Given the description of an element on the screen output the (x, y) to click on. 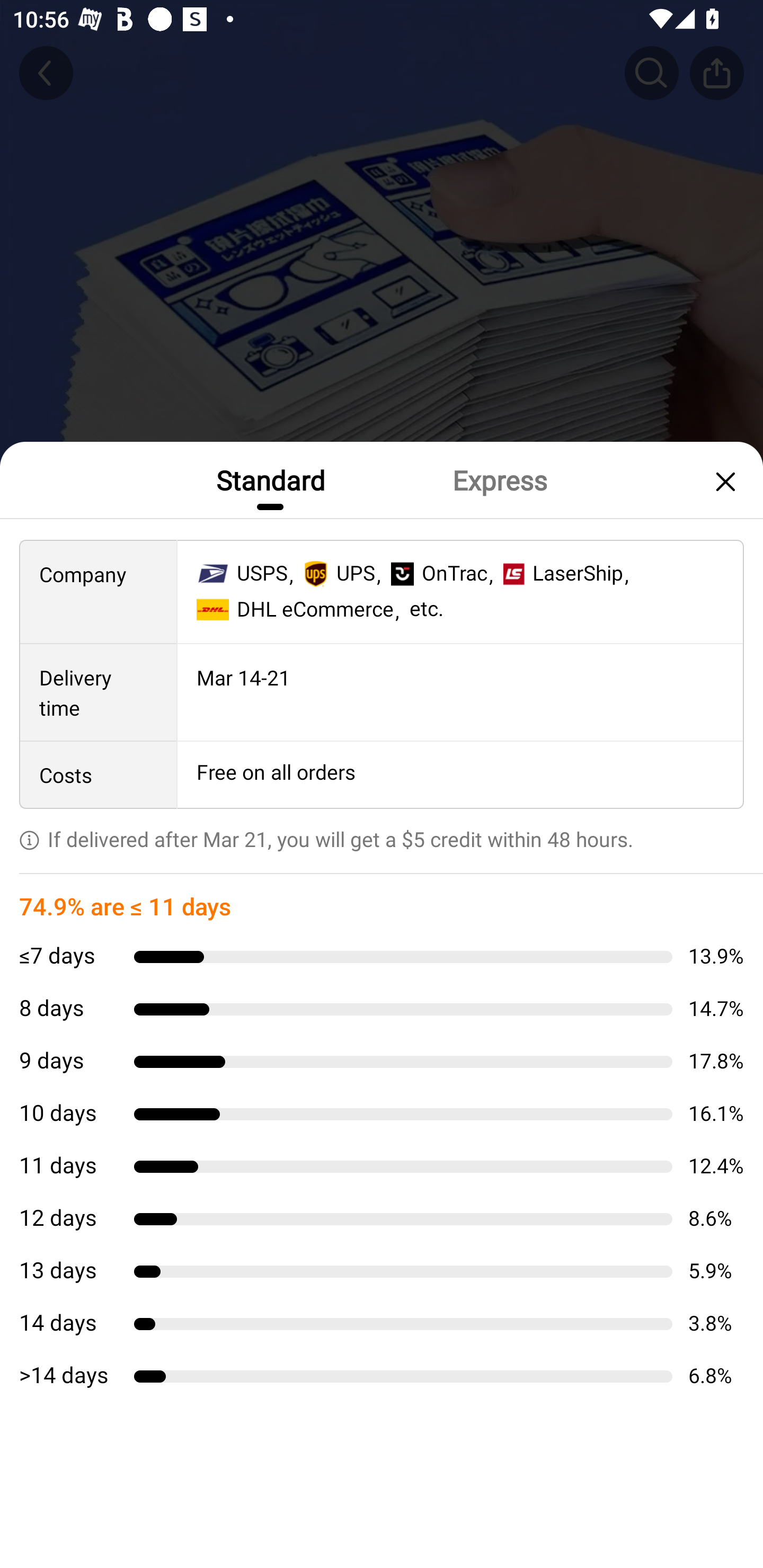
Standard (269, 479)
Express (499, 479)
close (723, 481)
Free shipping on all orders Exclusive offer (381, 836)
